Given the description of an element on the screen output the (x, y) to click on. 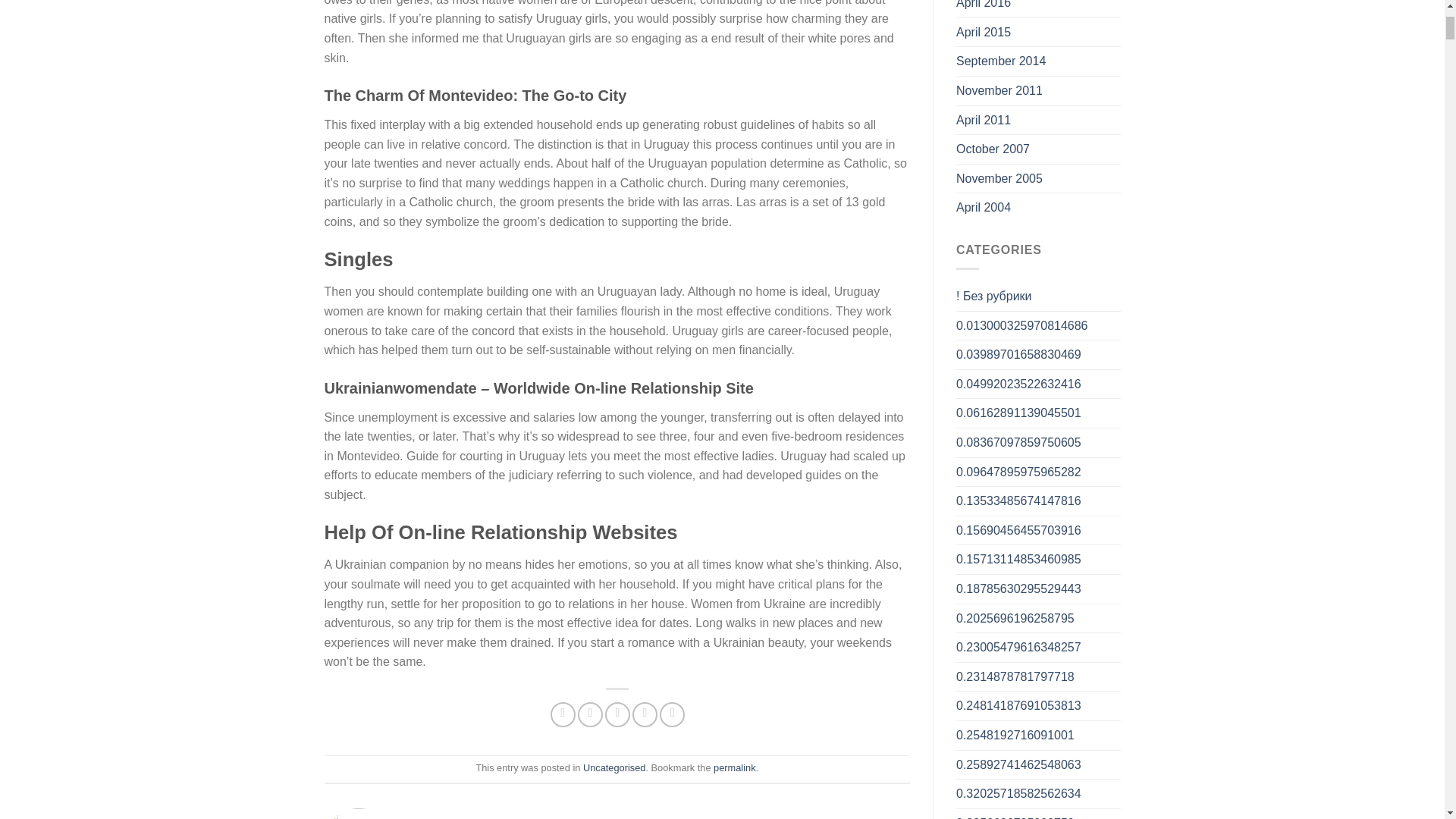
Share on Twitter (590, 714)
Email to a Friend (617, 714)
Share on Facebook (562, 714)
Share on LinkedIn (671, 714)
permalink (734, 767)
Pin on Pinterest (644, 714)
Uncategorised (614, 767)
